Given the description of an element on the screen output the (x, y) to click on. 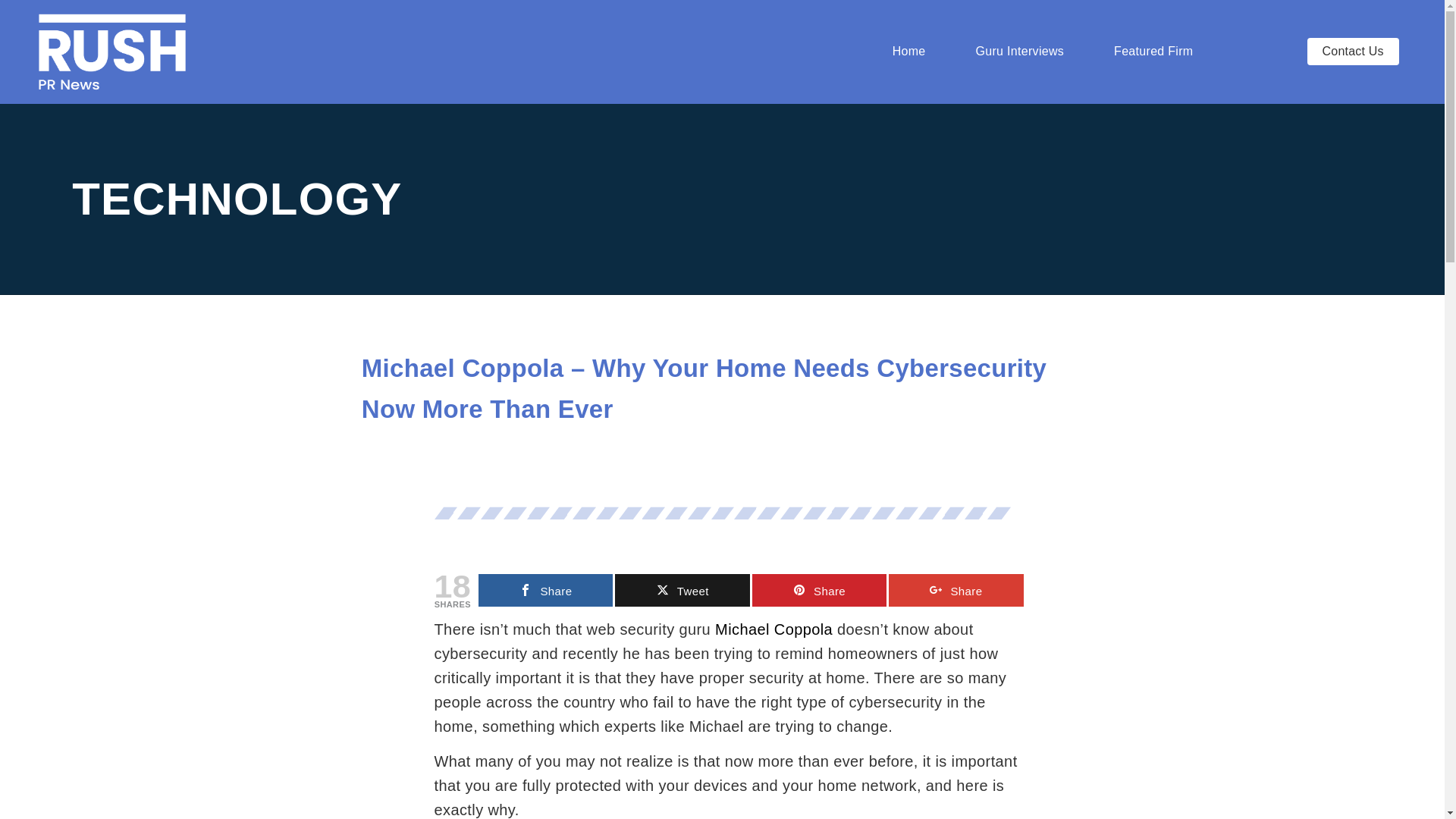
Featured Firm (1153, 51)
Contact Us (1353, 51)
Home (908, 51)
Share (955, 590)
Share (819, 590)
Guru Interviews (1019, 51)
Tweet (681, 590)
TECHNOLOGY (236, 198)
Share (545, 590)
